Given the description of an element on the screen output the (x, y) to click on. 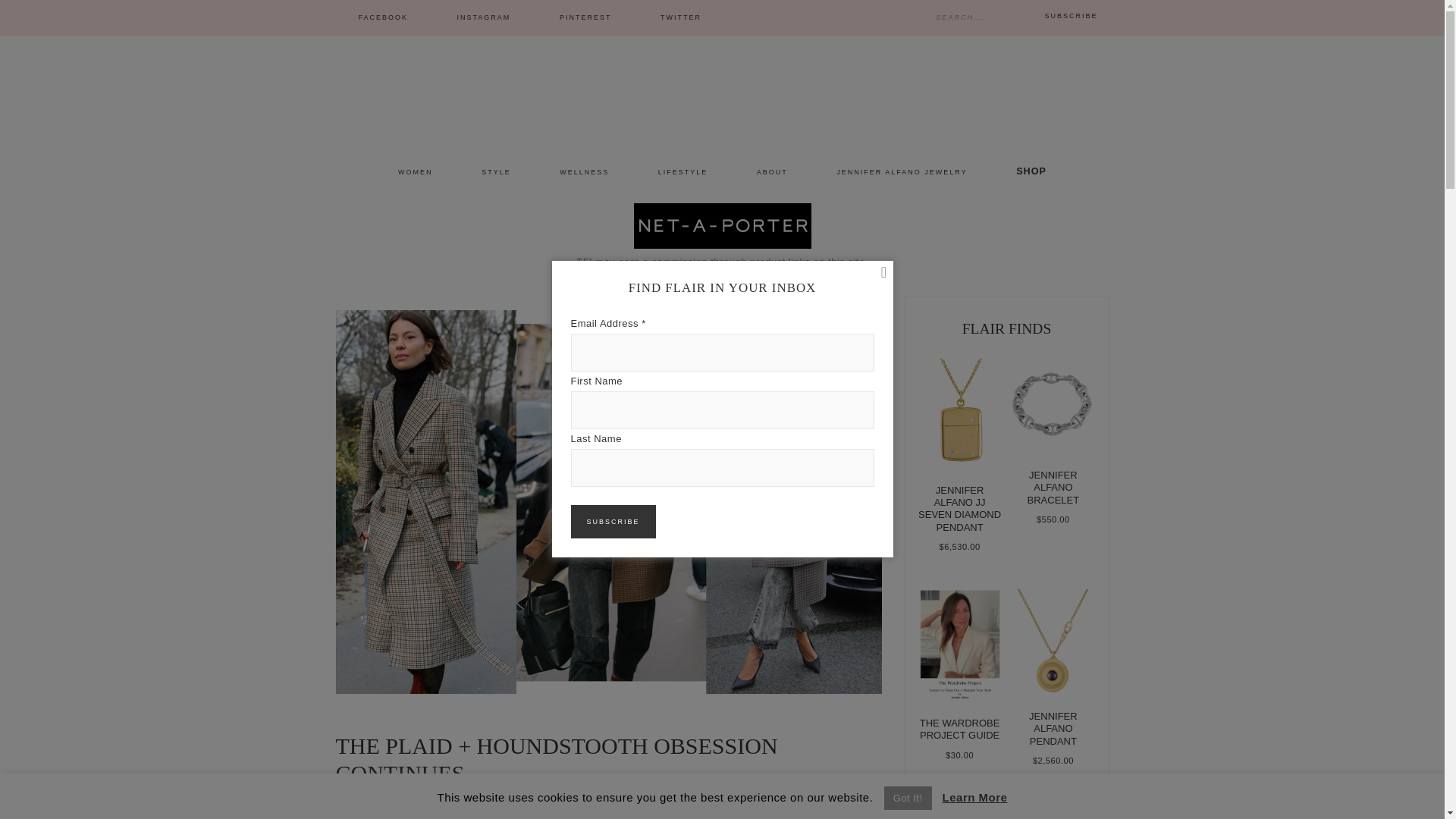
SUBSCRIBE (1070, 15)
ABOUT (771, 172)
INSTAGRAM (483, 18)
STYLE (346, 808)
WELLNESS (584, 172)
Subscribe (612, 521)
PINTEREST (585, 18)
LIFESTYLE (682, 172)
WOMEN (415, 172)
STYLE (496, 172)
THE FLAIR INDEX (722, 90)
SHOP (1030, 171)
